Given the description of an element on the screen output the (x, y) to click on. 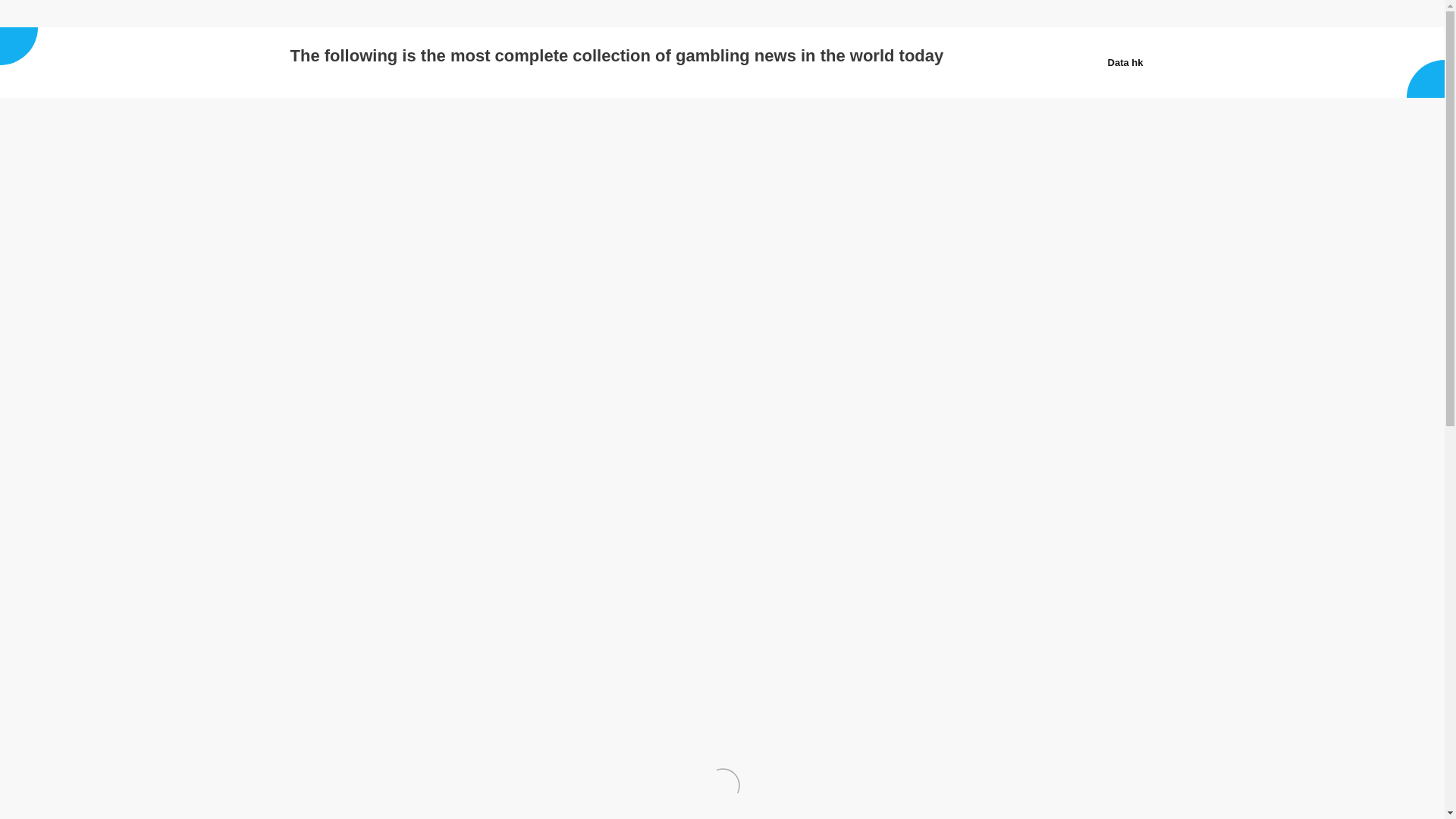
What You Should Know About the Lottery (337, 280)
View all posts by admincompare (411, 280)
Data hk (312, 13)
Uncategorized (505, 280)
Jul 9, 2022 (337, 280)
admincompare (411, 280)
